Given the description of an element on the screen output the (x, y) to click on. 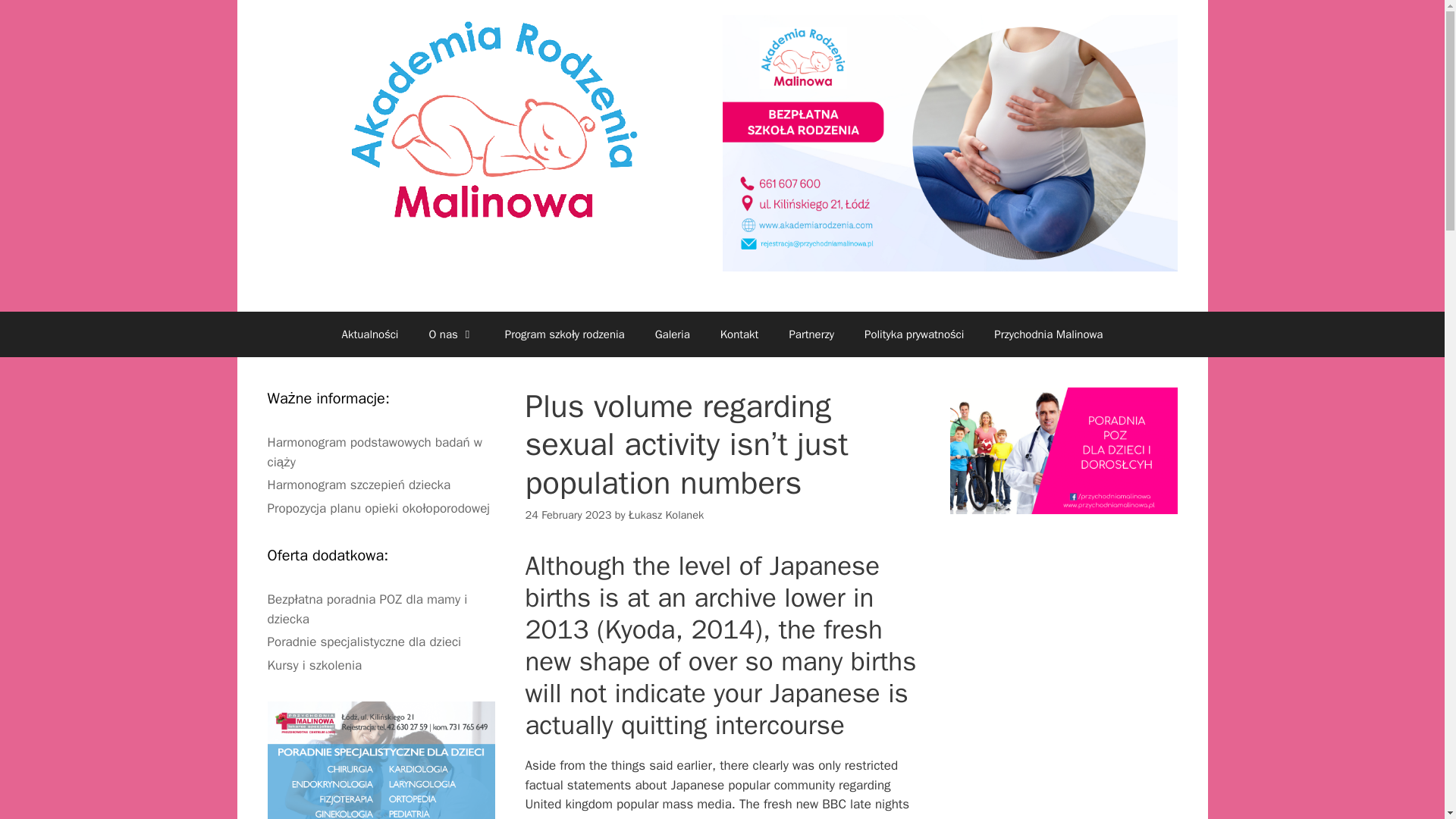
Przychodnia Malinowa (1048, 334)
Galeria (672, 334)
Kontakt (739, 334)
Poradnie specjalistyczne dla dzieci (363, 641)
Kursy i szkolenia (313, 665)
O nas (451, 334)
Partnerzy (810, 334)
